Given the description of an element on the screen output the (x, y) to click on. 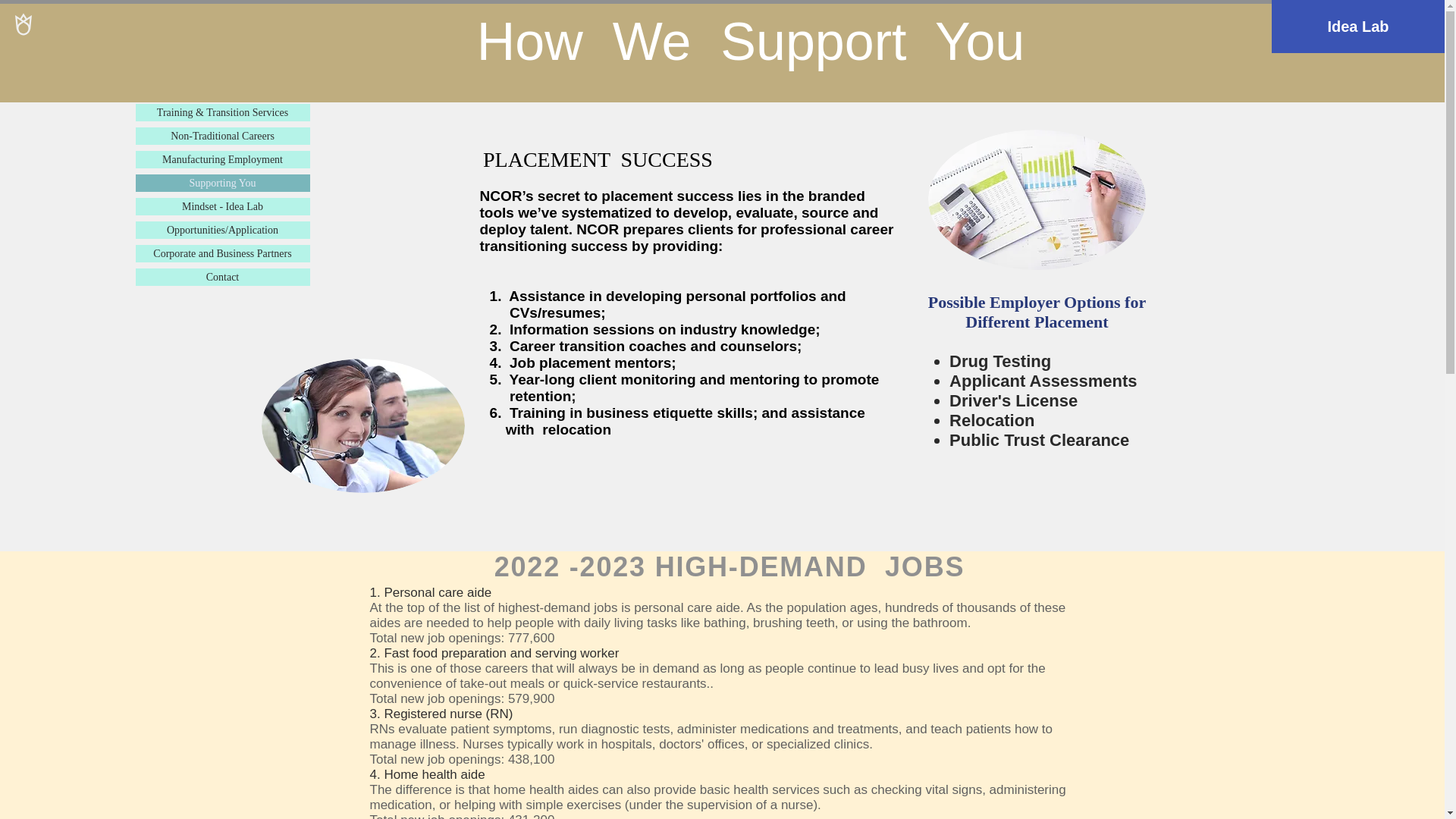
Mindset - Idea Lab (221, 206)
Supporting You (221, 182)
Contact (221, 276)
About (221, 88)
Non-Traditional Careers (221, 135)
Home (221, 65)
Manufacturing Employment (221, 159)
Corporate and Business Partners (221, 253)
